Given the description of an element on the screen output the (x, y) to click on. 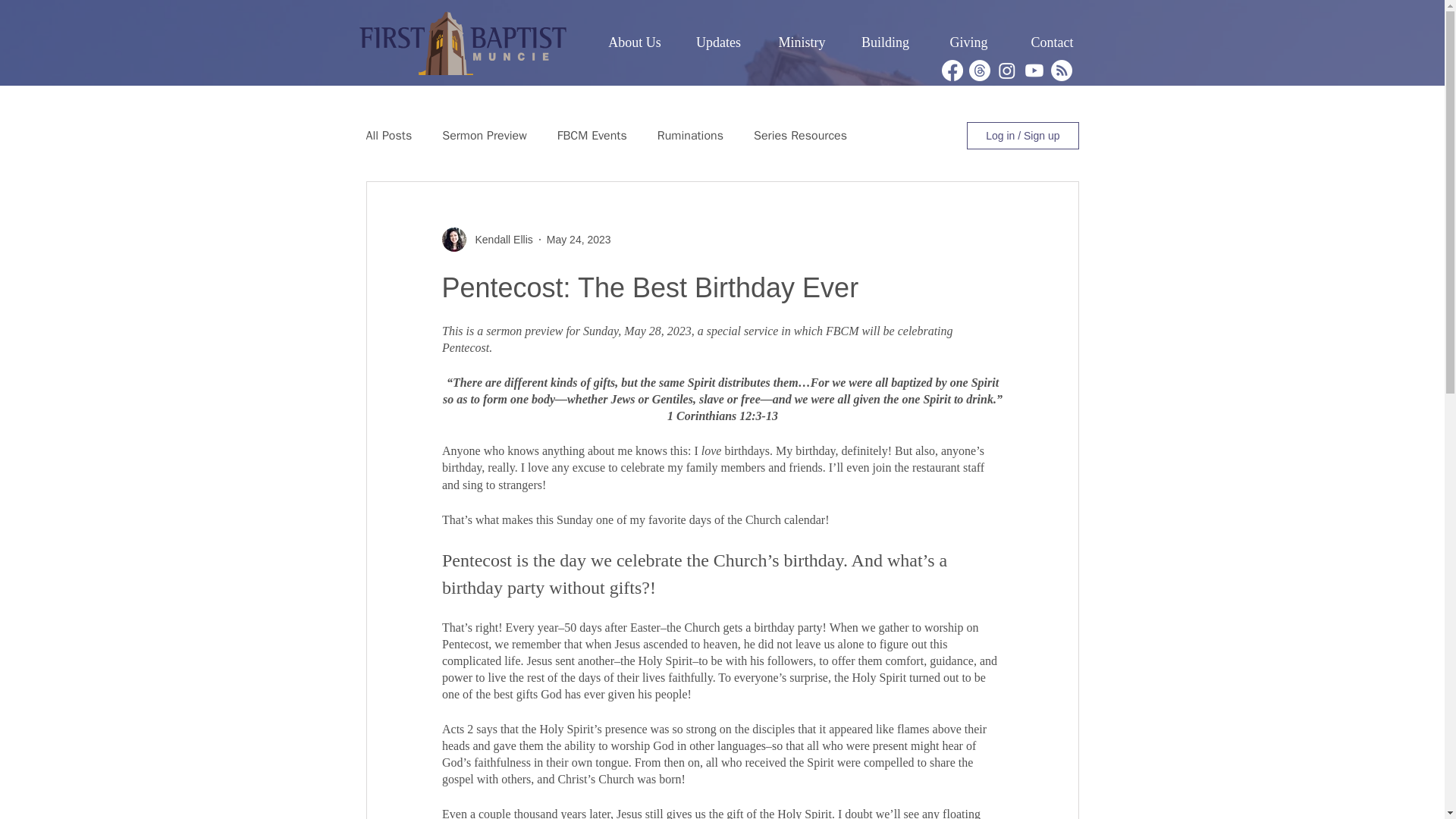
Giving (968, 42)
May 24, 2023 (579, 239)
FBCM Events (592, 135)
Series Resources (800, 135)
Ruminations (690, 135)
All Posts (388, 135)
Contact (1051, 42)
Sermon Preview (484, 135)
Kendall Ellis (498, 239)
